Given the description of an element on the screen output the (x, y) to click on. 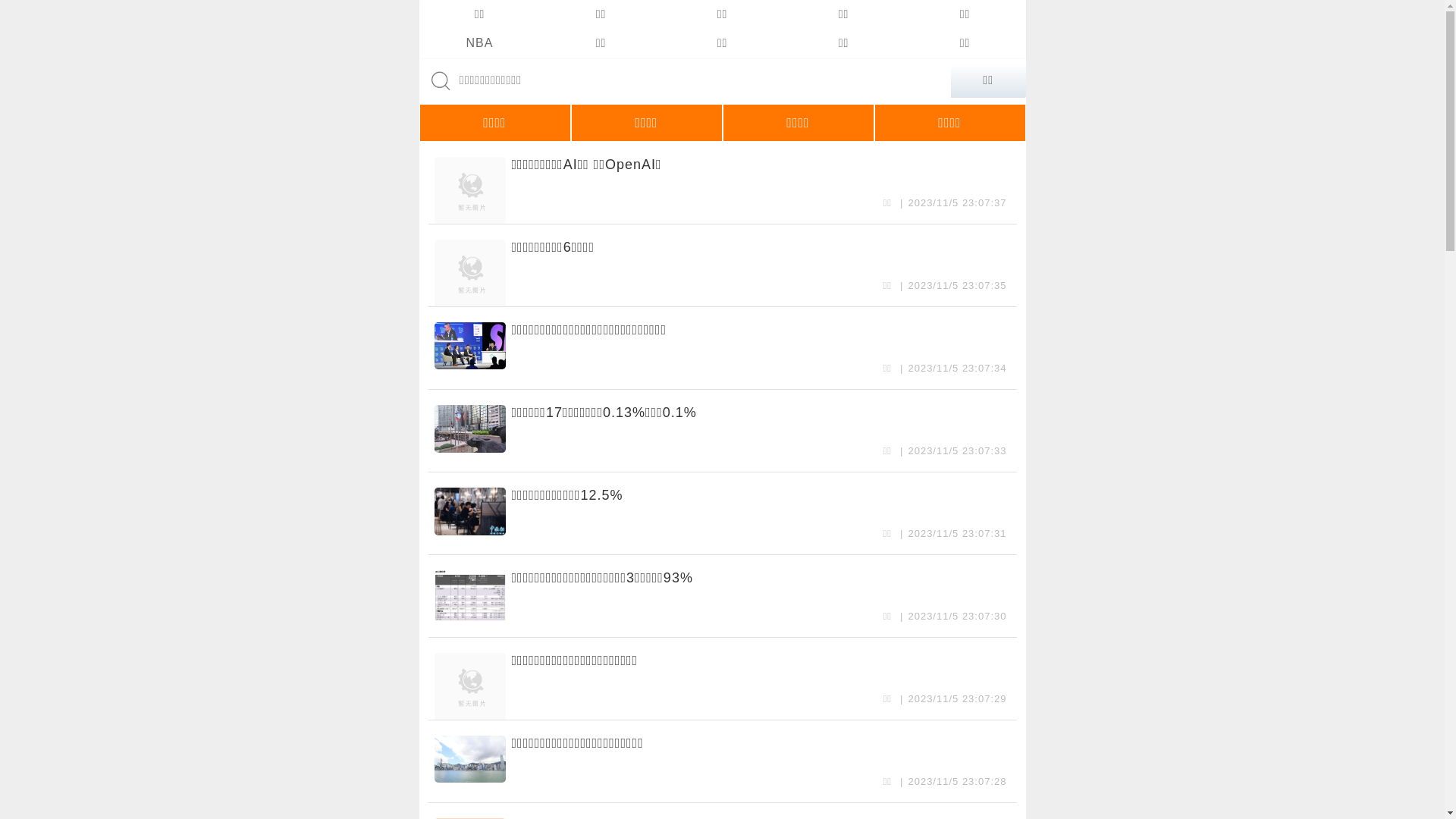
NBA Element type: text (478, 42)
